Given the description of an element on the screen output the (x, y) to click on. 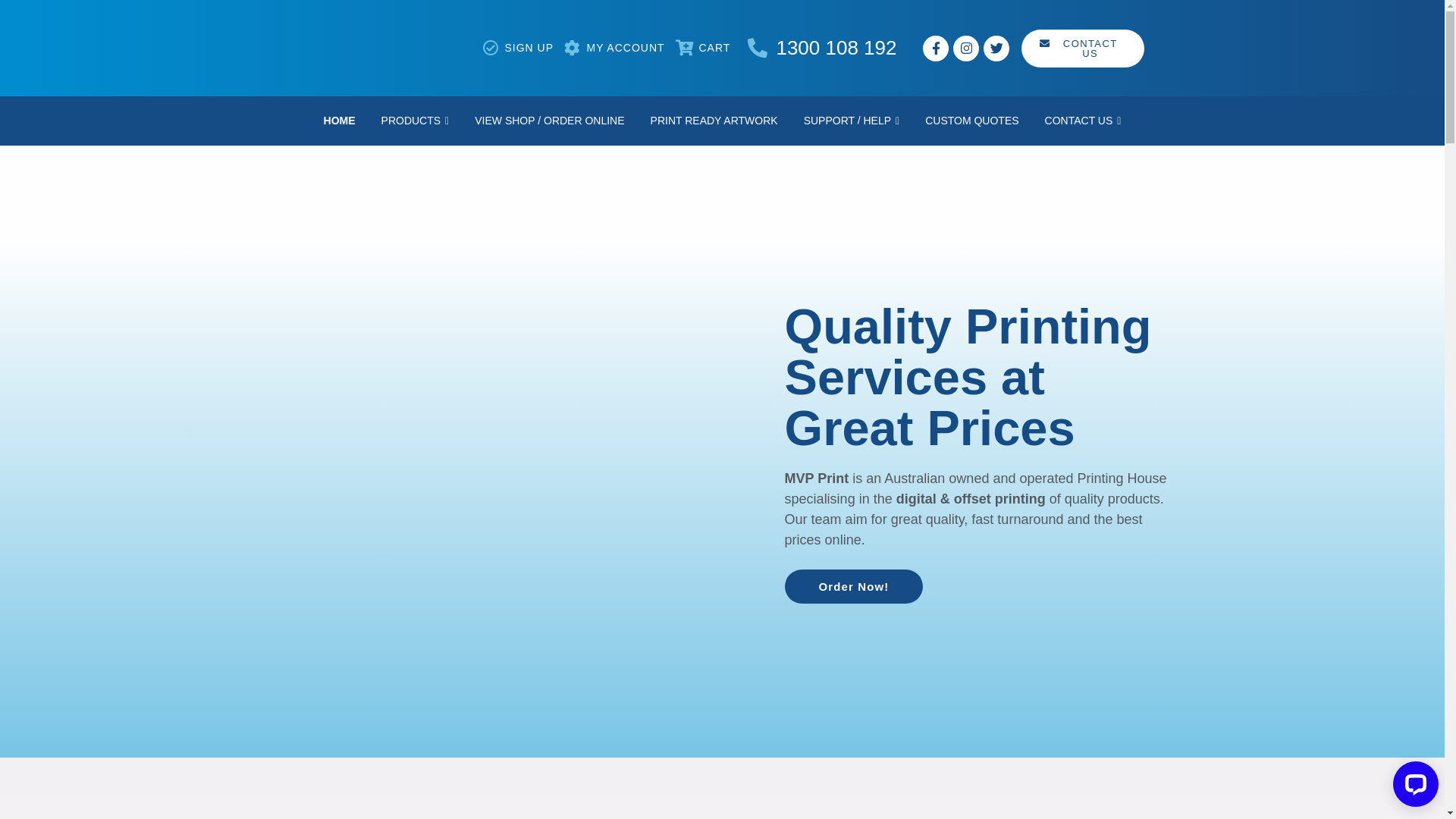
MY ACCOUNT Element type: text (625, 47)
PRODUCTS Element type: text (415, 120)
CONTACT US Element type: text (1083, 47)
SUPPORT / HELP Element type: text (851, 120)
PRINT READY ARTWORK Element type: text (713, 120)
SIGN UP Element type: text (529, 47)
1300 108 192 Element type: text (829, 47)
HOME Element type: text (339, 120)
VIEW SHOP / ORDER ONLINE Element type: text (549, 120)
Order Now! Element type: text (853, 585)
CONTACT US Element type: text (1083, 120)
CART Element type: text (714, 47)
CUSTOM QUOTES Element type: text (971, 120)
